Given the description of an element on the screen output the (x, y) to click on. 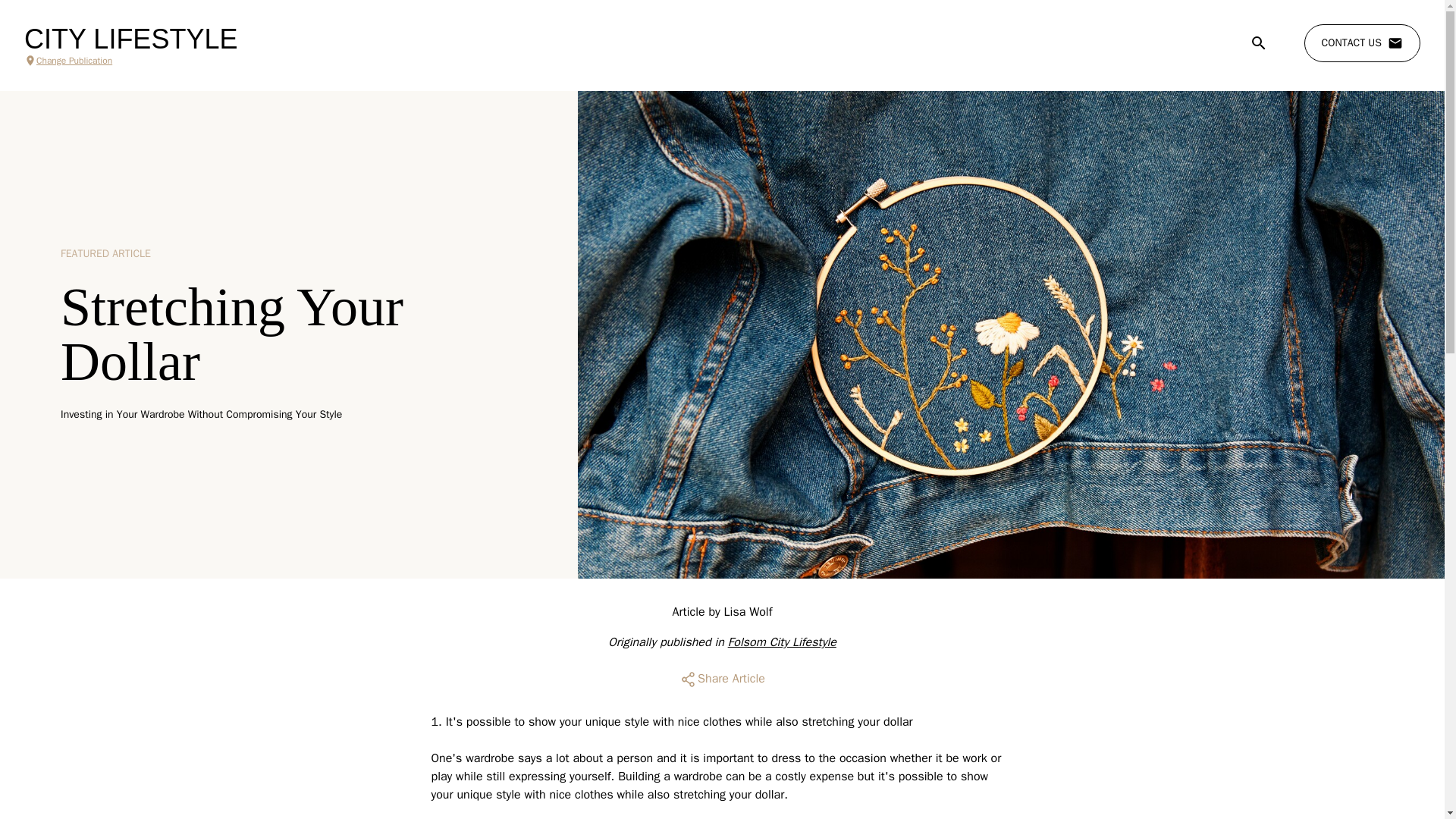
Change Publication (130, 60)
CITY LIFESTYLE (130, 39)
Folsom City Lifestyle (781, 642)
CONTACT US (1362, 43)
Share Article (722, 678)
